Given the description of an element on the screen output the (x, y) to click on. 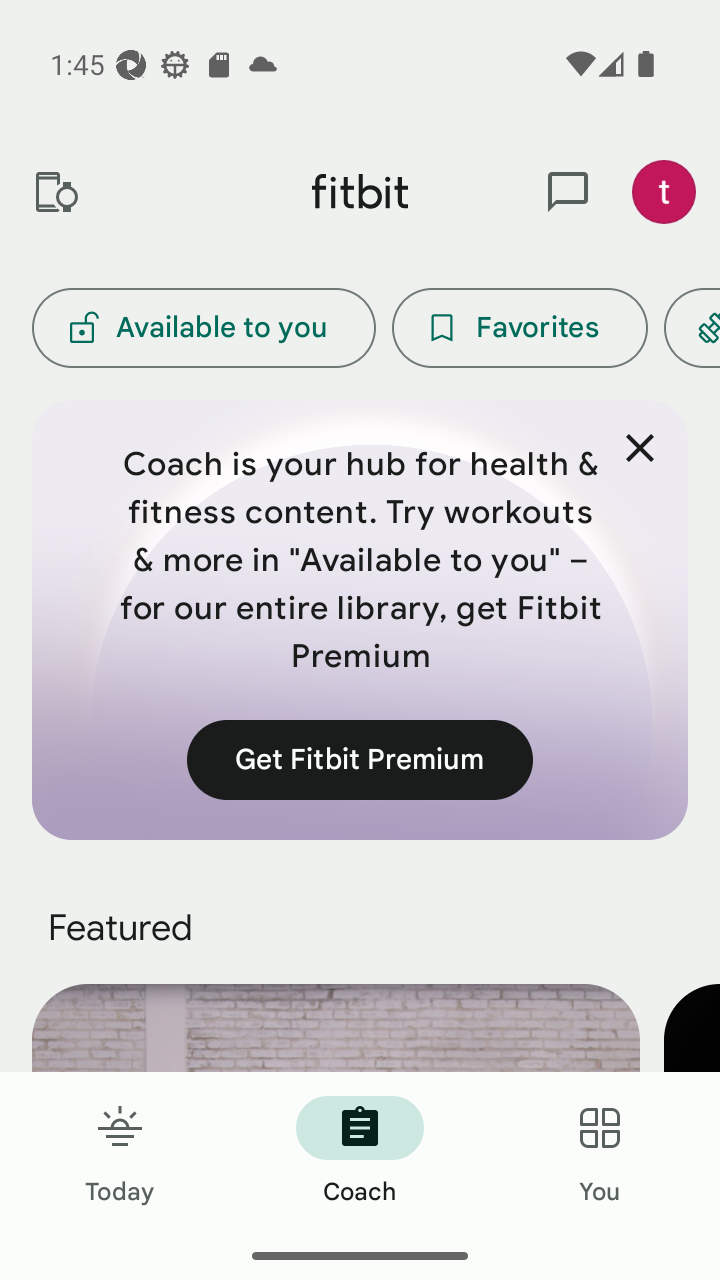
Devices and apps (55, 191)
messages and notifications (567, 191)
Available to you (203, 328)
Favorites (519, 328)
Close promotional content (639, 447)
Get Fitbit Premium (359, 759)
Today (119, 1151)
You (600, 1151)
